Given the description of an element on the screen output the (x, y) to click on. 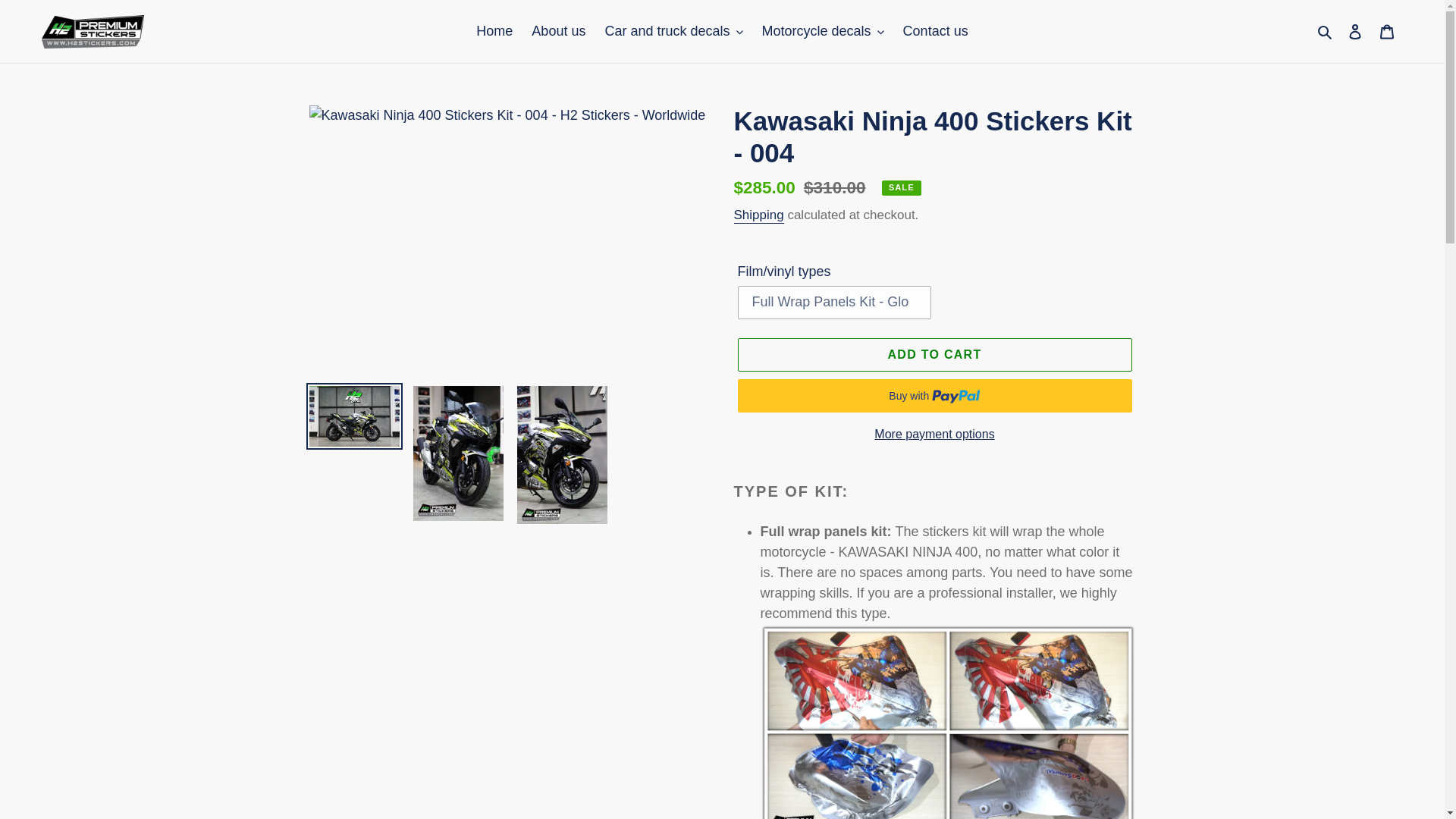
Car and truck decals (672, 31)
Motorcycle decals (822, 31)
About us (558, 31)
Home (493, 31)
